Given the description of an element on the screen output the (x, y) to click on. 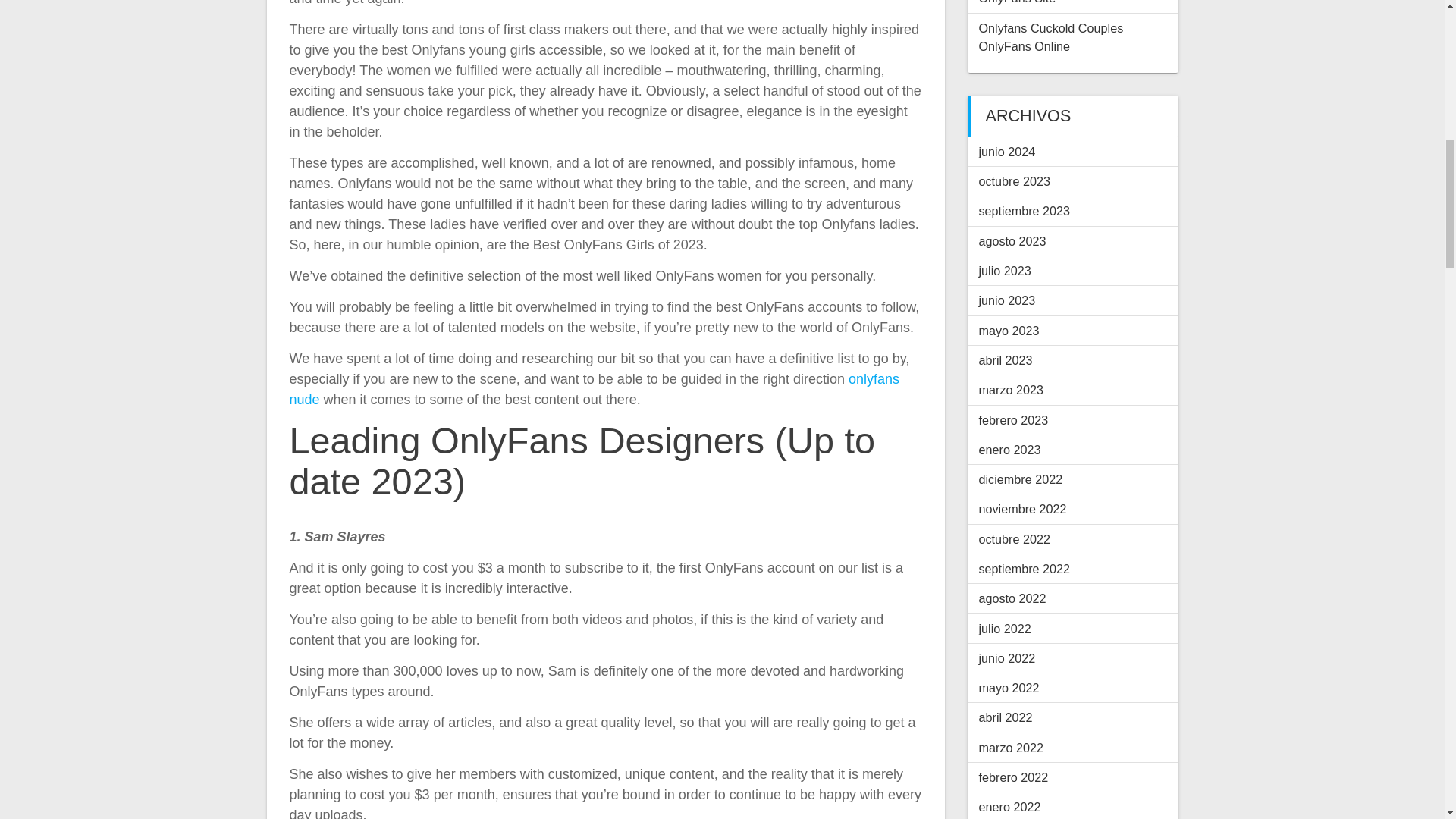
diciembre 2022 (1020, 479)
marzo 2023 (1010, 389)
abril 2023 (1005, 359)
agosto 2023 (1011, 241)
junio 2023 (1006, 300)
julio 2023 (1004, 270)
Onlyfans Cuckold Couples OnlyFans Online (1050, 37)
noviembre 2022 (1021, 508)
octubre 2023 (1013, 181)
mayo 2023 (1008, 330)
junio 2024 (1006, 151)
onlyfans nude (594, 389)
septiembre 2023 (1024, 210)
enero 2023 (1009, 449)
octubre 2022 (1013, 539)
